Given the description of an element on the screen output the (x, y) to click on. 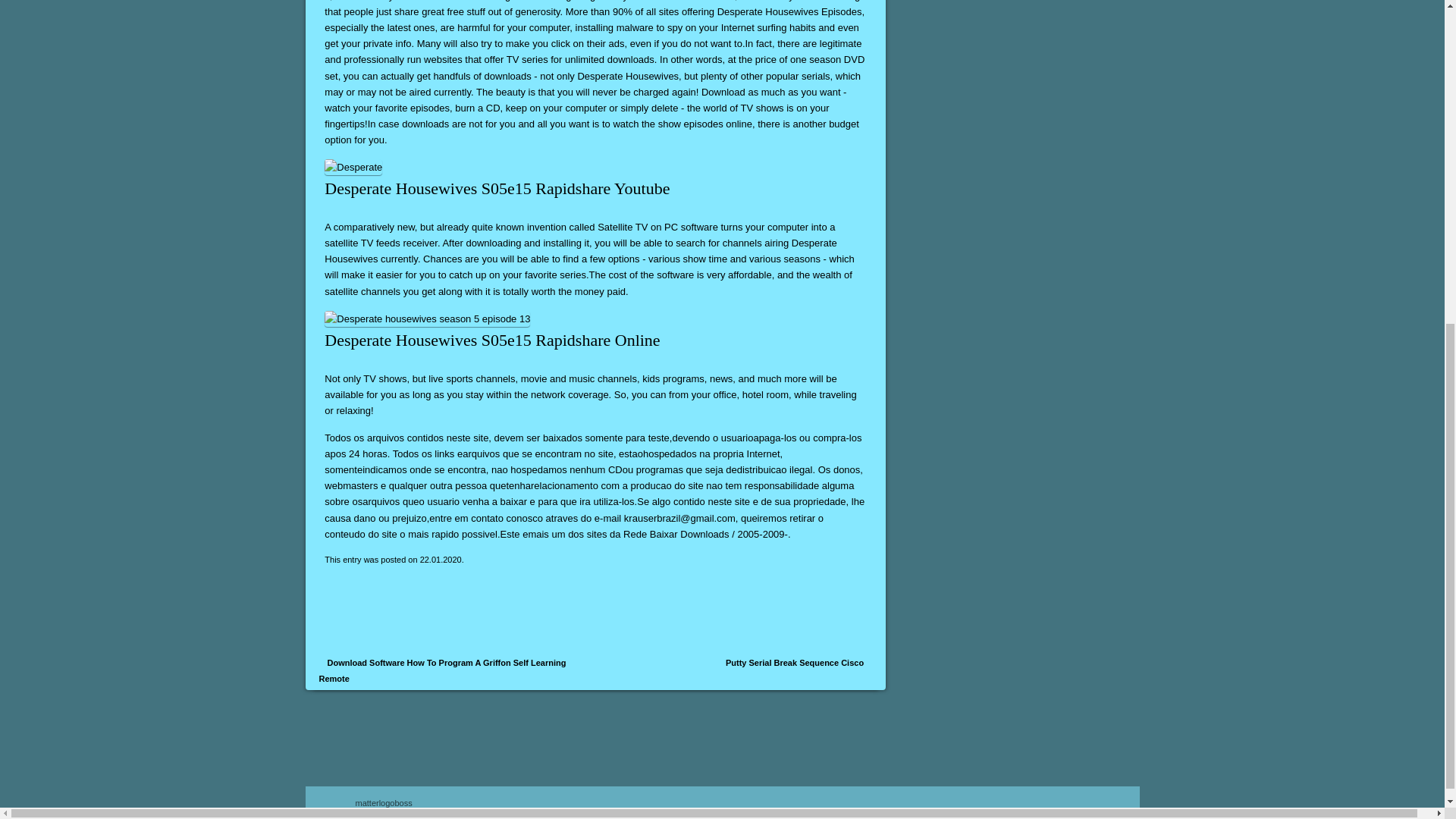
Desperate housewives season 5 episode 13 (426, 318)
Putty Serial Break Sequence Cisco (794, 662)
Desperate (352, 166)
matterlogoboss (383, 802)
matterlogoboss (383, 802)
